Given the description of an element on the screen output the (x, y) to click on. 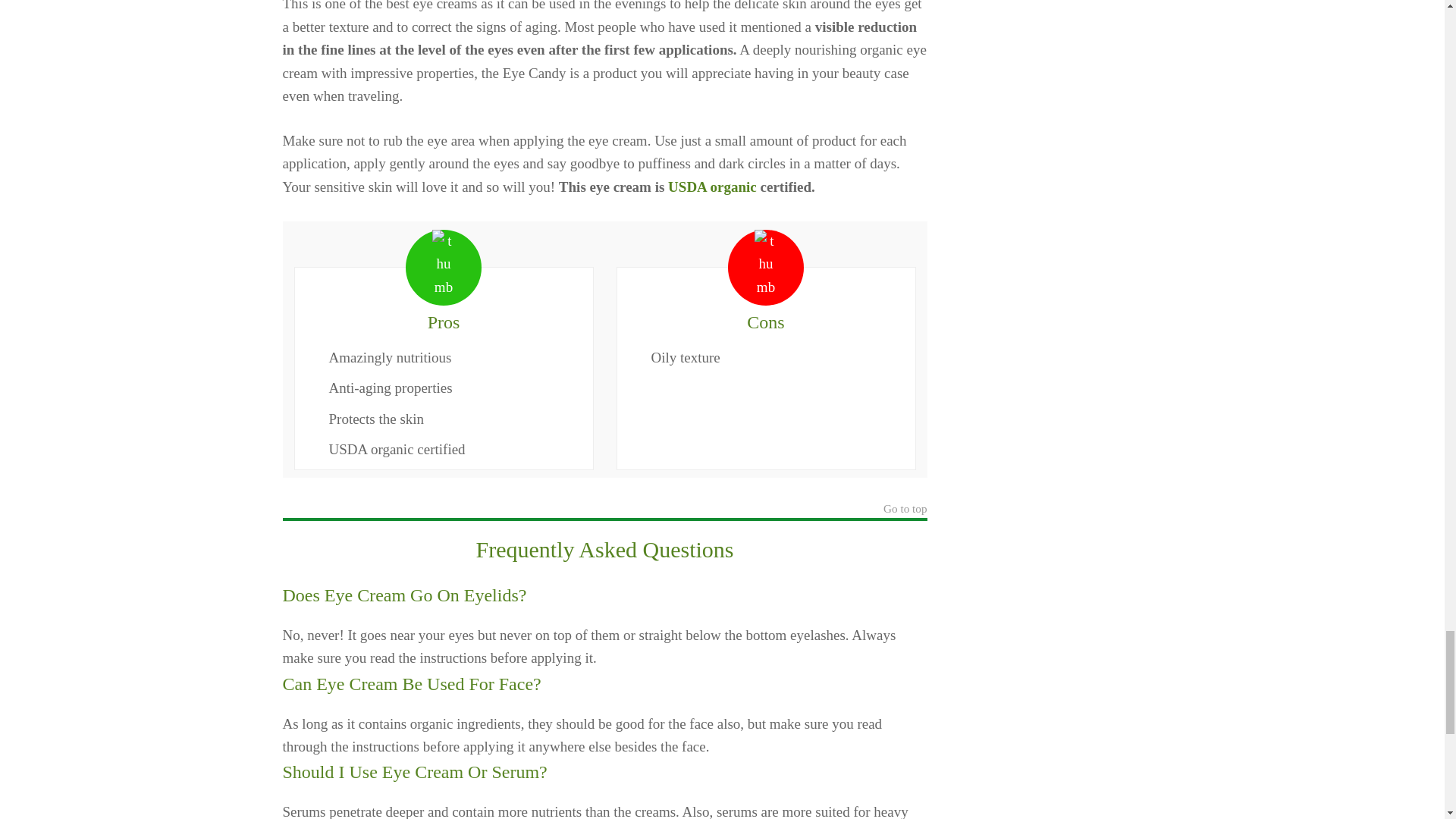
USDA organic (712, 186)
